Given the description of an element on the screen output the (x, y) to click on. 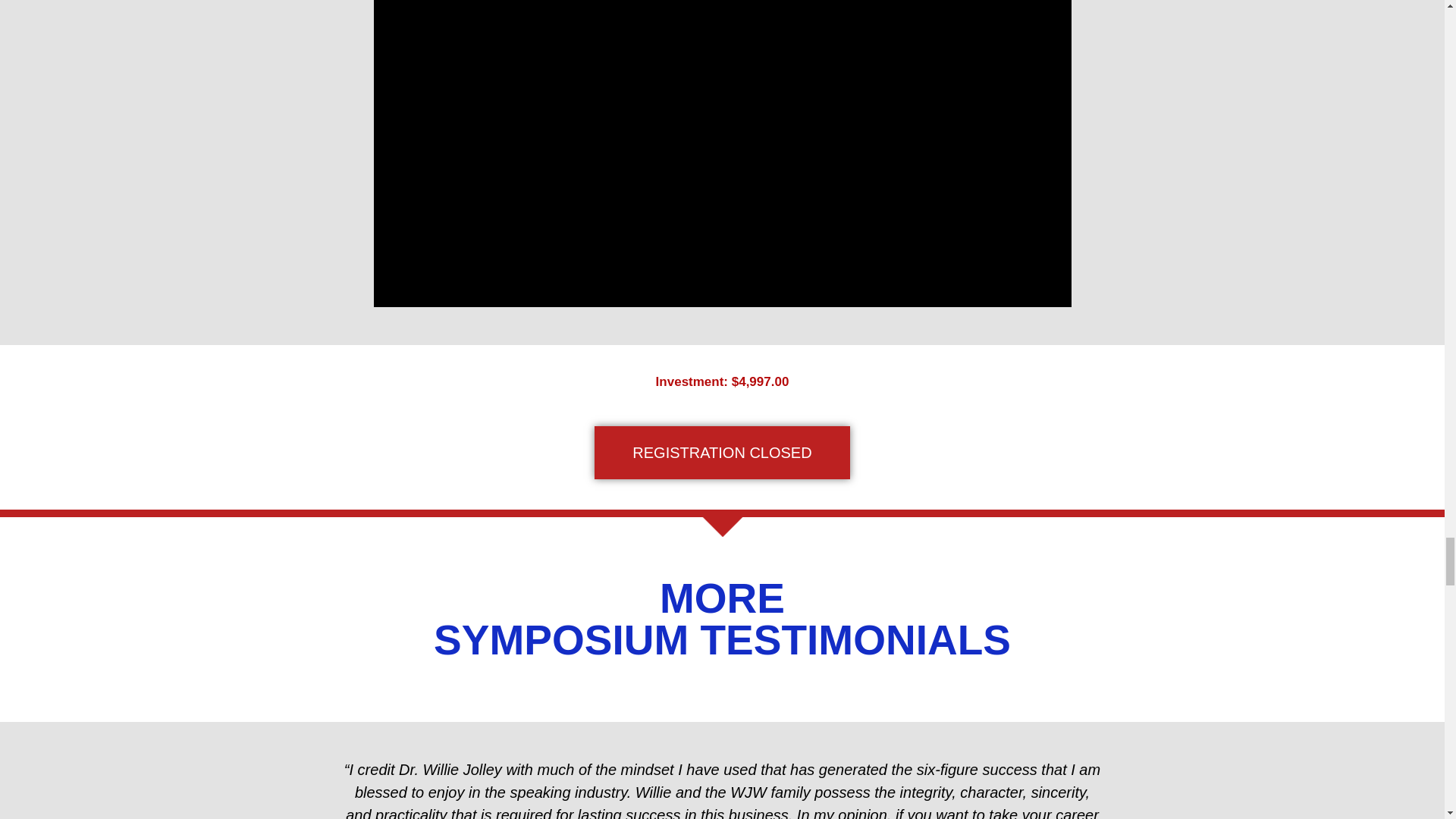
REGISTRATION CLOSED (721, 452)
